Given the description of an element on the screen output the (x, y) to click on. 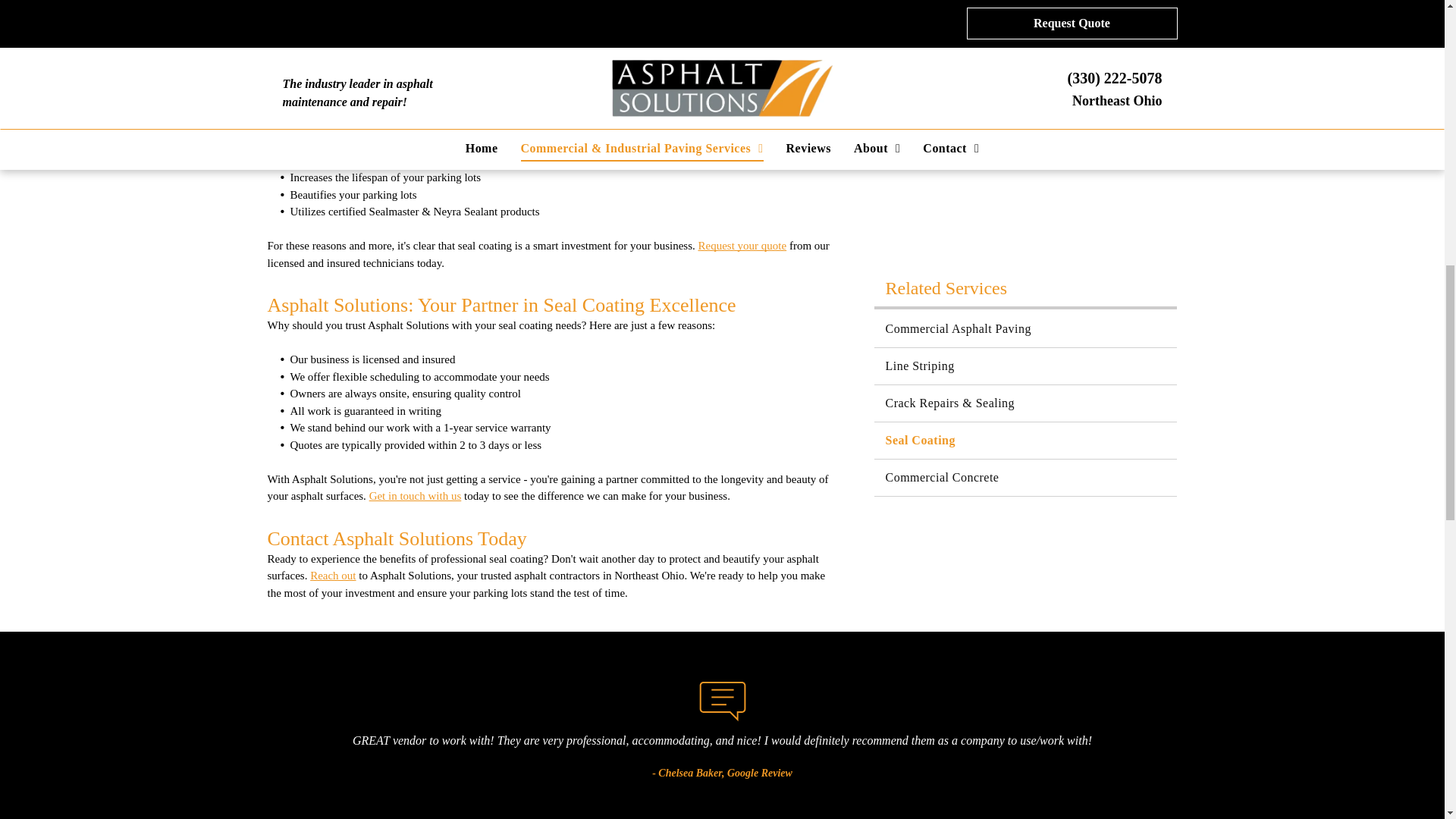
Line Striping (1024, 366)
reach out (449, 46)
Request your quote (741, 245)
Commercial Asphalt Paving (1024, 329)
Seal Coating (1024, 440)
Commercial Concrete (1024, 477)
Get in touch with us (415, 495)
Reach out (332, 575)
